Given the description of an element on the screen output the (x, y) to click on. 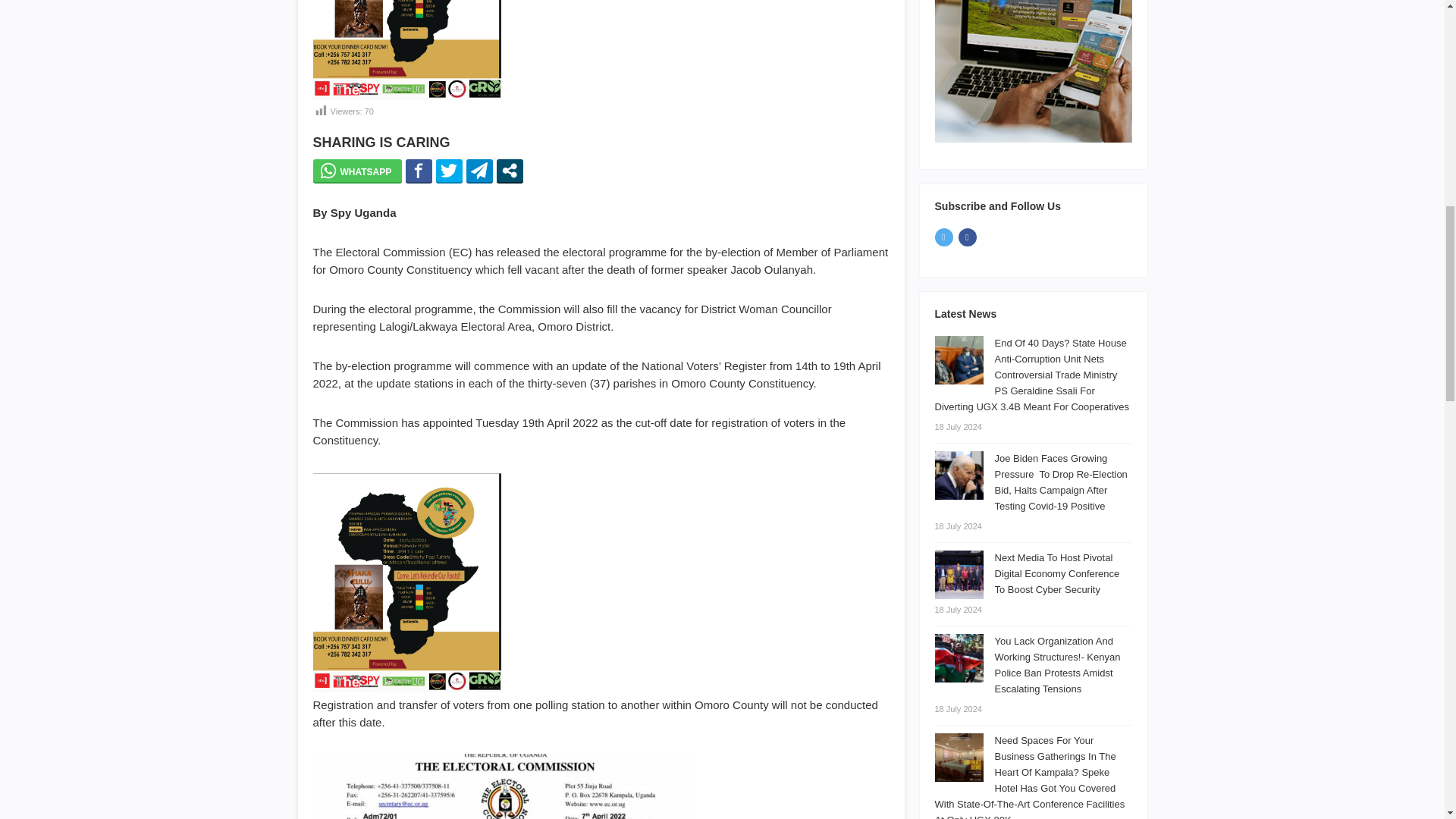
Share on Facebook (419, 169)
Share on Telegram (479, 169)
Tweet (449, 169)
Open modal social networks (509, 169)
Share on WhatsApp (357, 169)
